Given the description of an element on the screen output the (x, y) to click on. 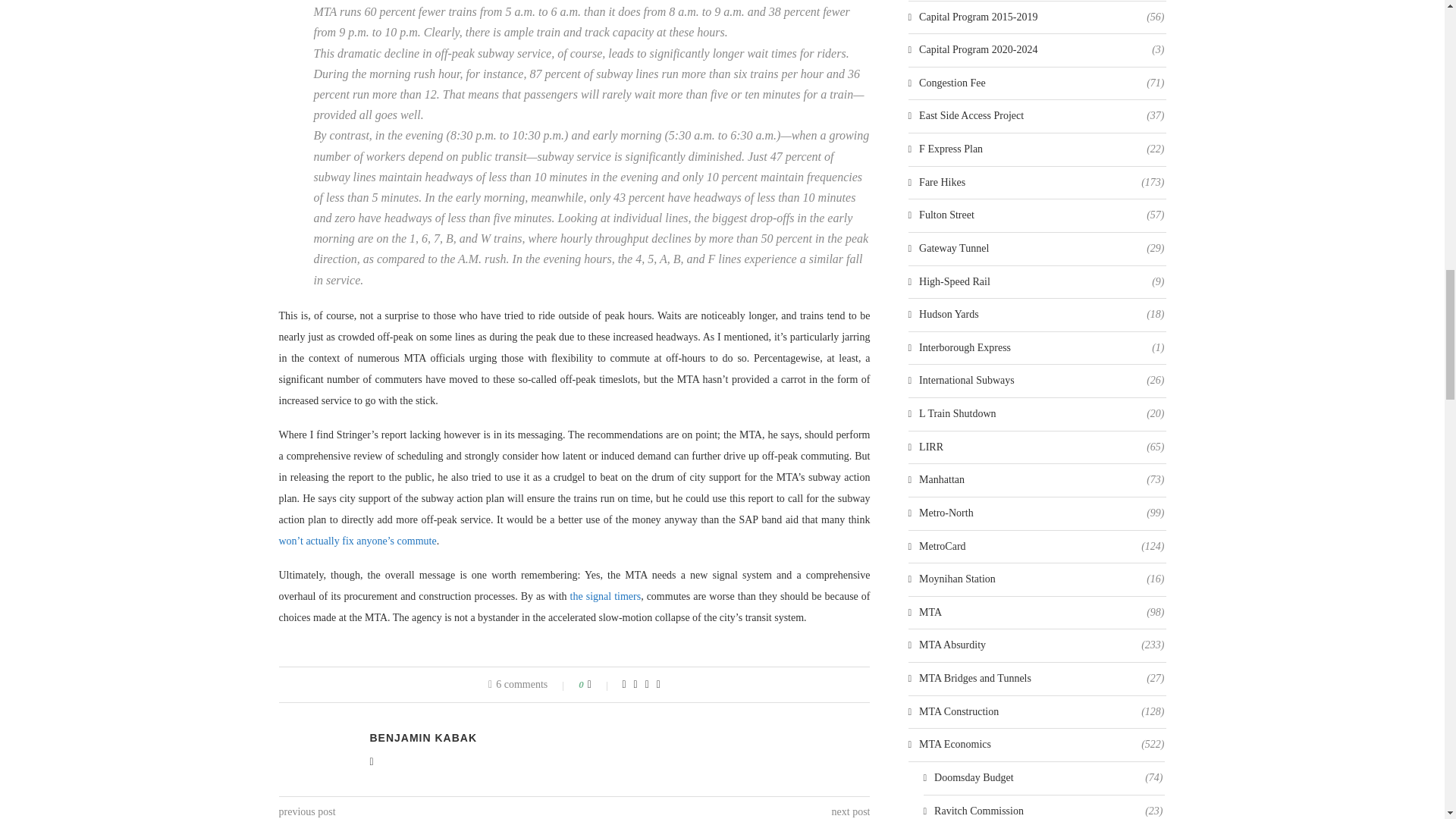
Like (599, 684)
BENJAMIN KABAK (423, 737)
Posts by Benjamin Kabak (423, 737)
the signal timers (606, 595)
